Given the description of an element on the screen output the (x, y) to click on. 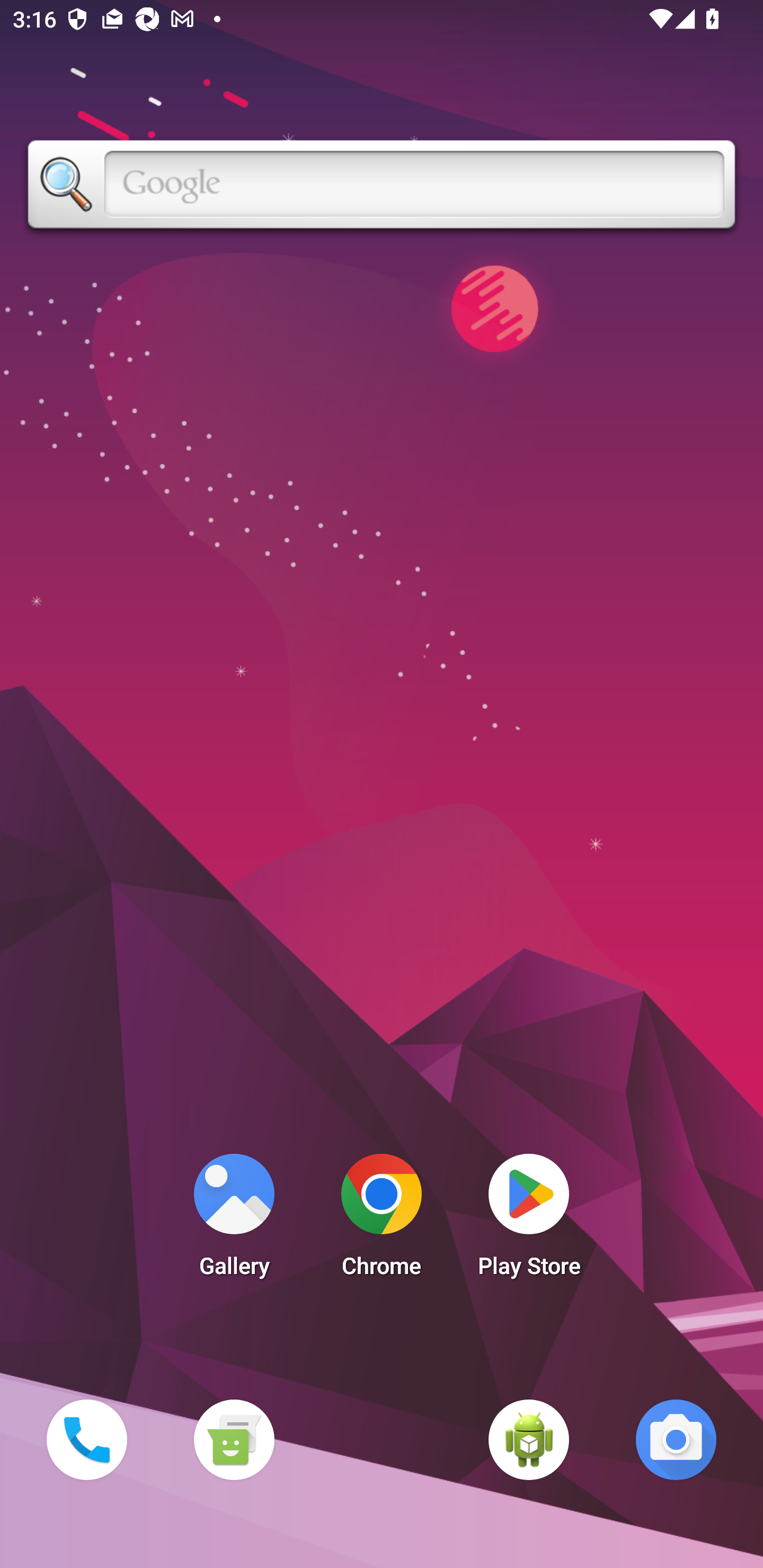
Gallery (233, 1220)
Chrome (381, 1220)
Play Store (528, 1220)
Phone (86, 1439)
Messaging (233, 1439)
WebView Browser Tester (528, 1439)
Camera (676, 1439)
